Given the description of an element on the screen output the (x, y) to click on. 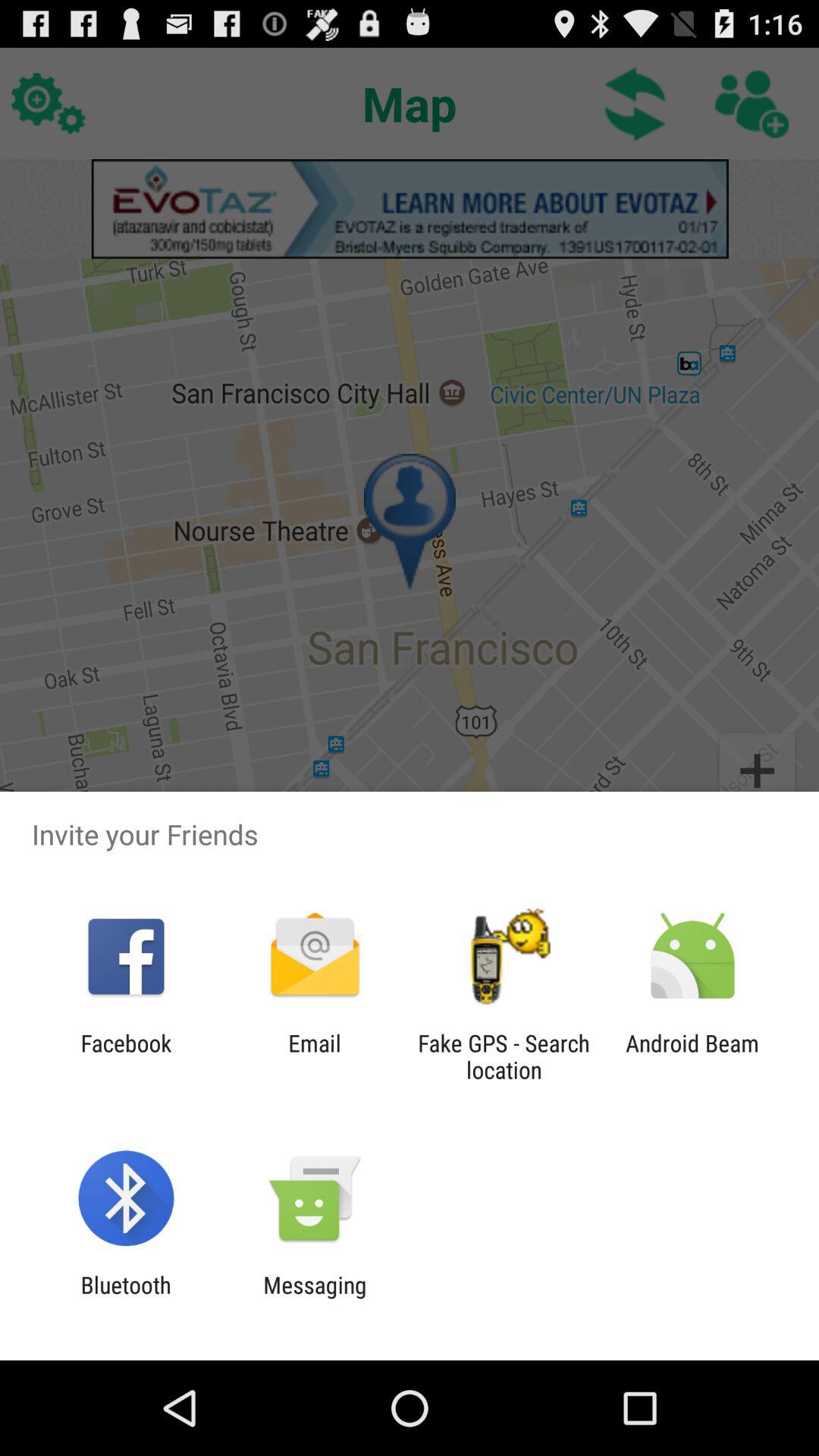
open the facebook app (125, 1056)
